Given the description of an element on the screen output the (x, y) to click on. 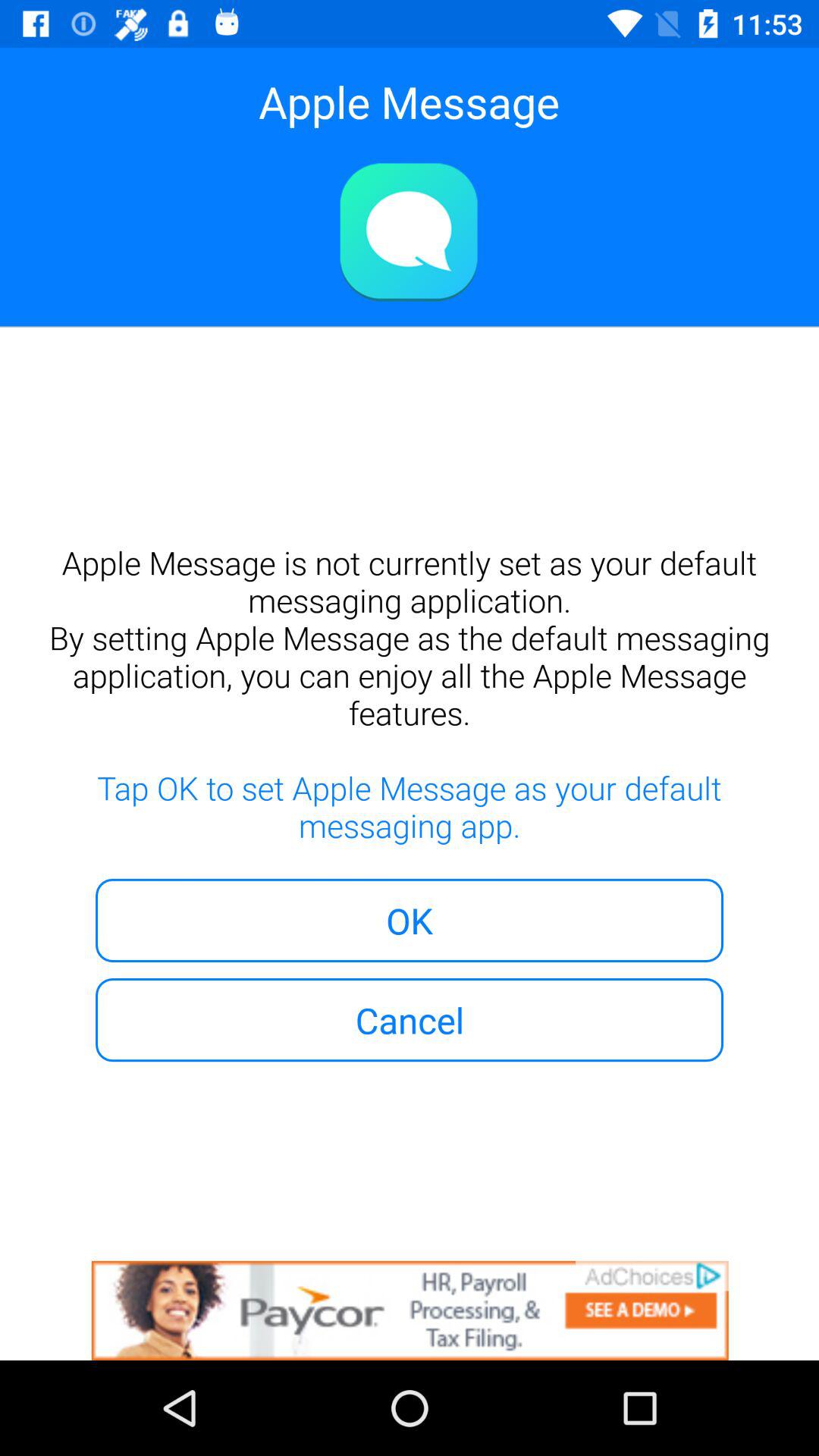
advertisement bar (409, 1310)
